Given the description of an element on the screen output the (x, y) to click on. 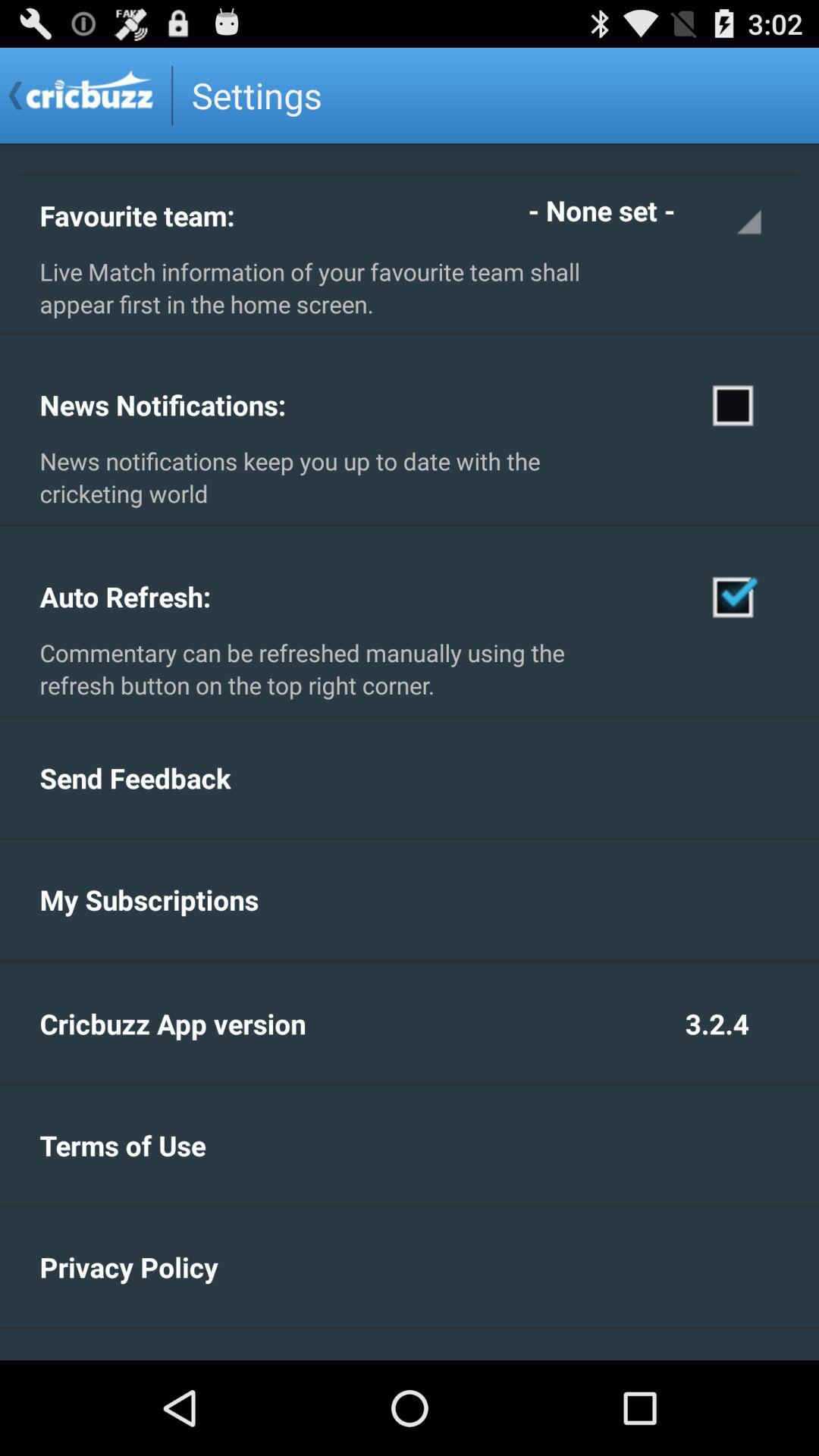
check 'auto refresh (733, 596)
